Given the description of an element on the screen output the (x, y) to click on. 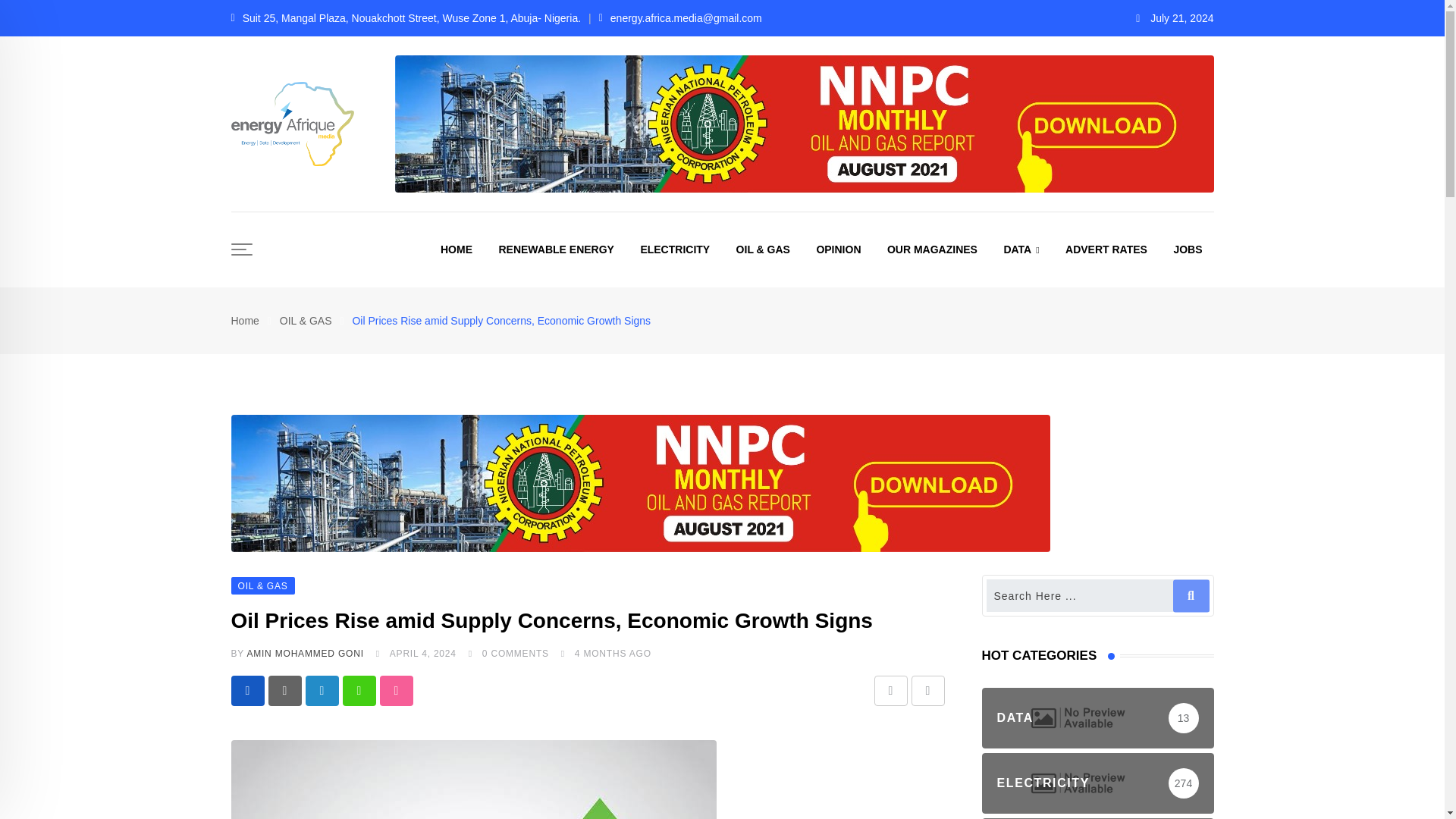
RENEWABLE ENERGY (555, 249)
ELECTRICITY (674, 249)
ADVERT RATES (1106, 249)
OPINION (838, 249)
OUR MAGAZINES (932, 249)
Posts by Amin Mohammed Goni (304, 653)
